Given the description of an element on the screen output the (x, y) to click on. 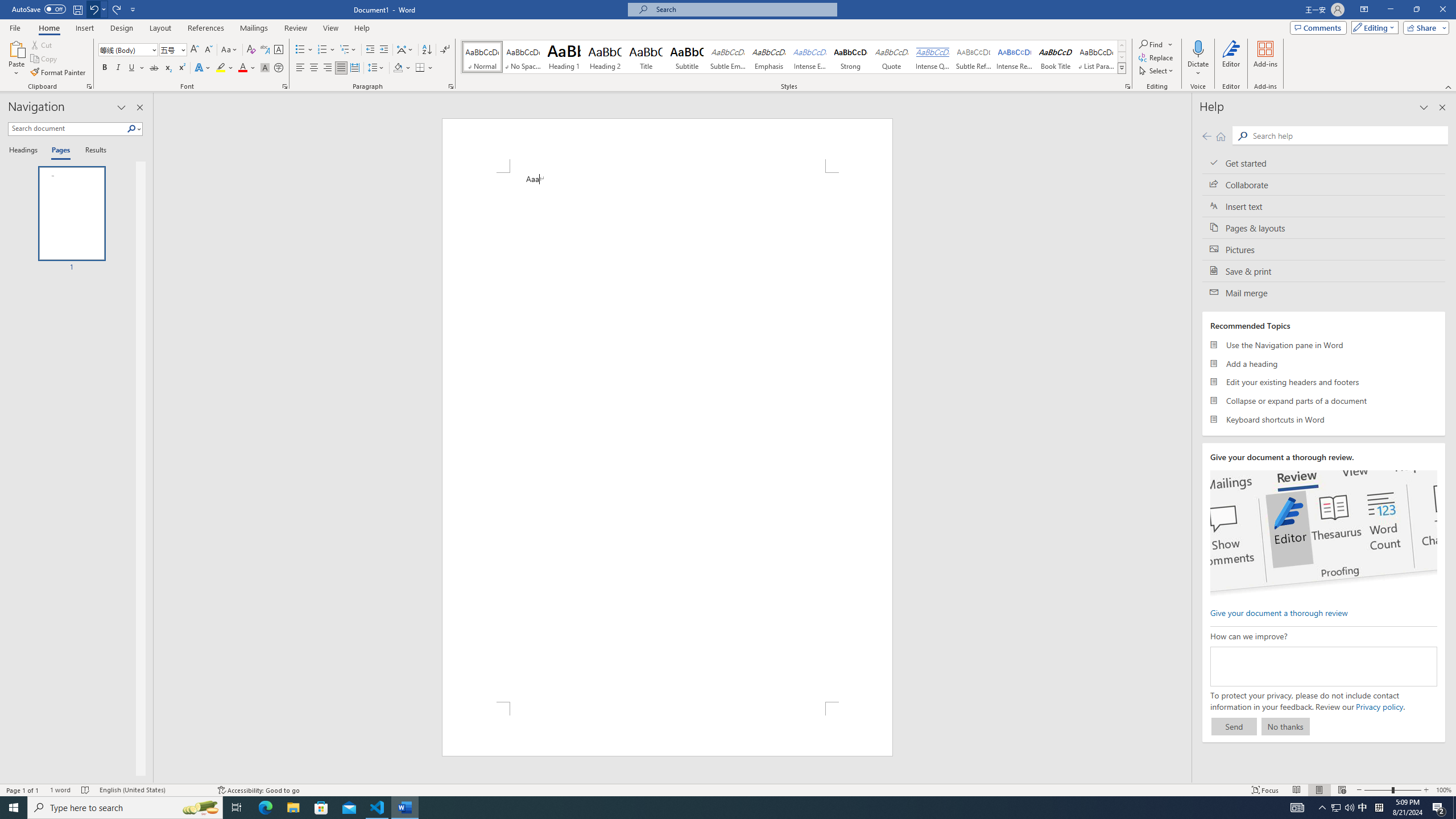
Distributed (354, 67)
Give your document a thorough review (1278, 611)
Decrease Indent (370, 49)
Task Pane Options (121, 107)
Font (124, 49)
Zoom In (1426, 790)
Underline (131, 67)
Font Color Red (241, 67)
Font Color (246, 67)
Select (1157, 69)
System (6, 6)
References (205, 28)
Sort... (426, 49)
Character Shading (264, 67)
Multilevel List (347, 49)
